Given the description of an element on the screen output the (x, y) to click on. 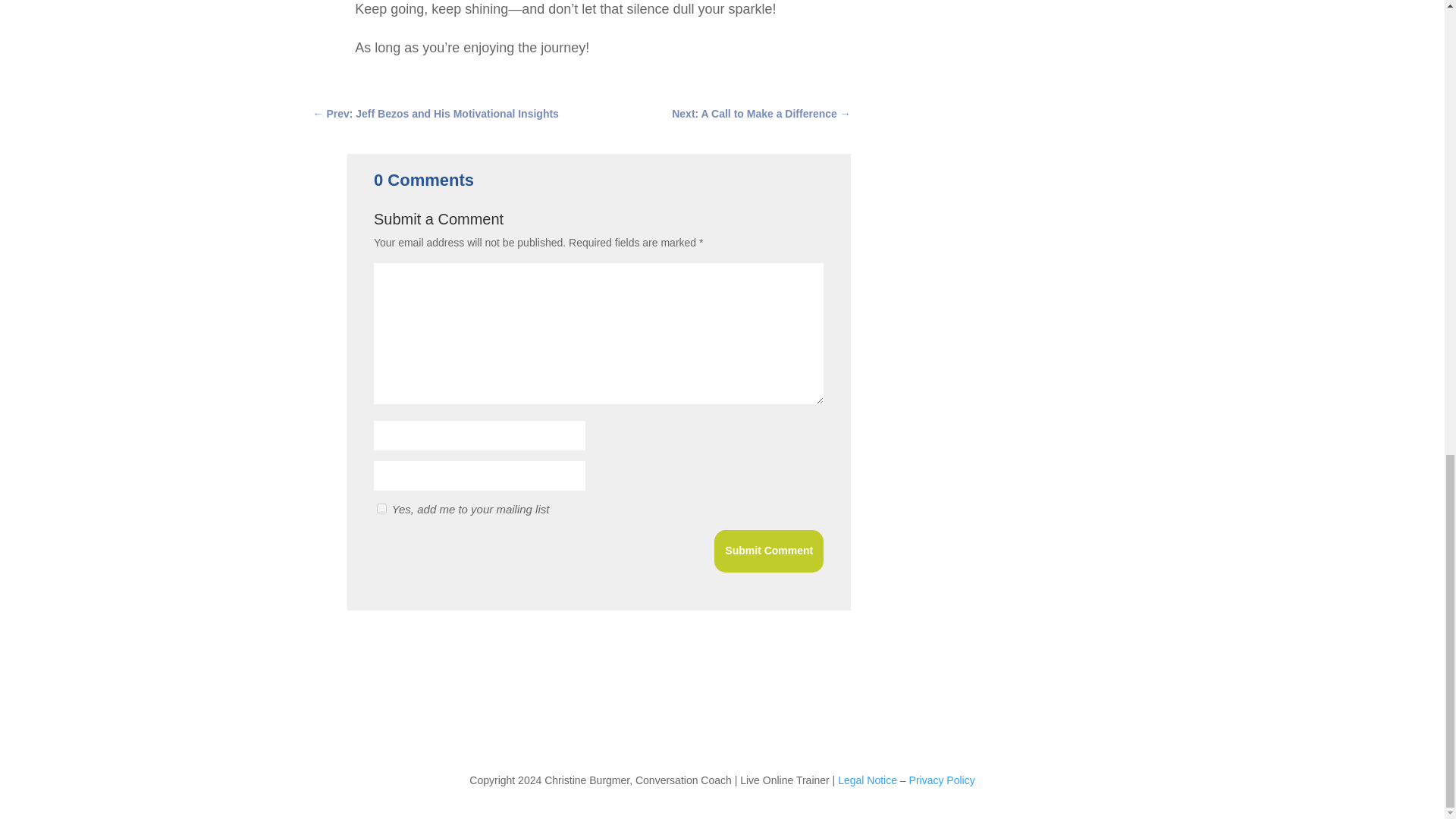
1 (382, 508)
